Given the description of an element on the screen output the (x, y) to click on. 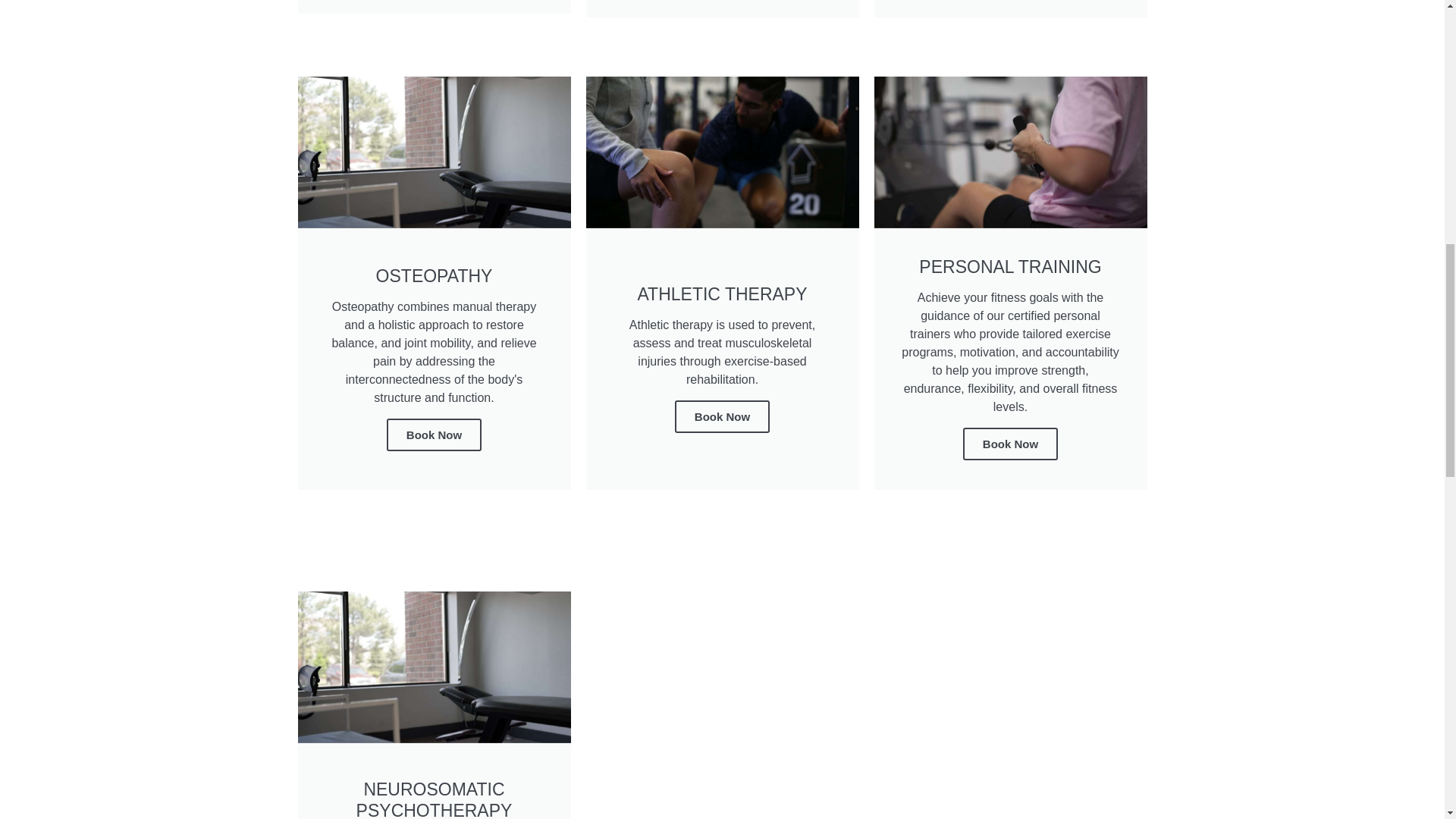
Book Now (434, 434)
Book Now (722, 416)
Book Now (1010, 443)
